Given the description of an element on the screen output the (x, y) to click on. 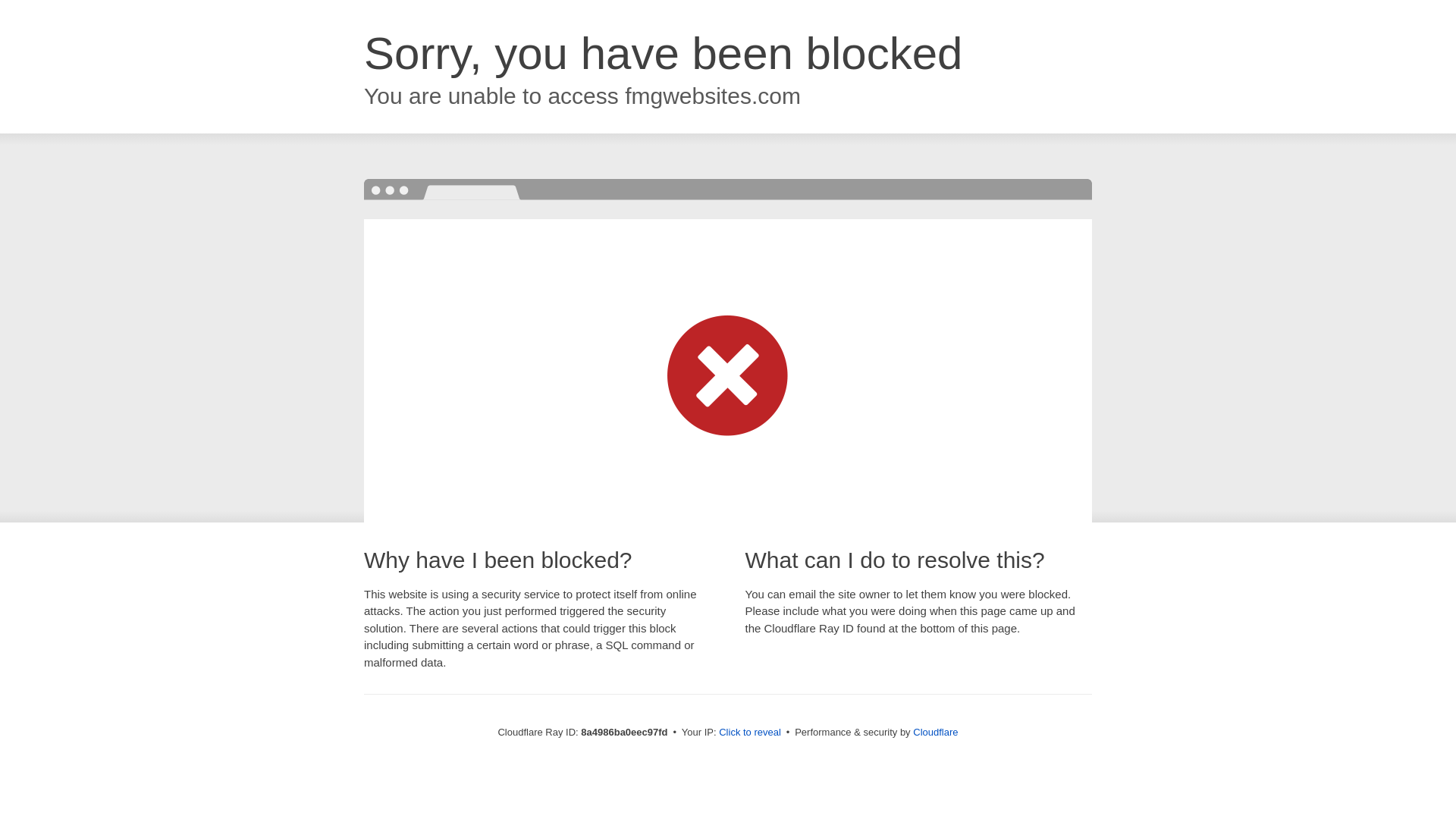
Cloudflare (935, 731)
Click to reveal (749, 732)
